Given the description of an element on the screen output the (x, y) to click on. 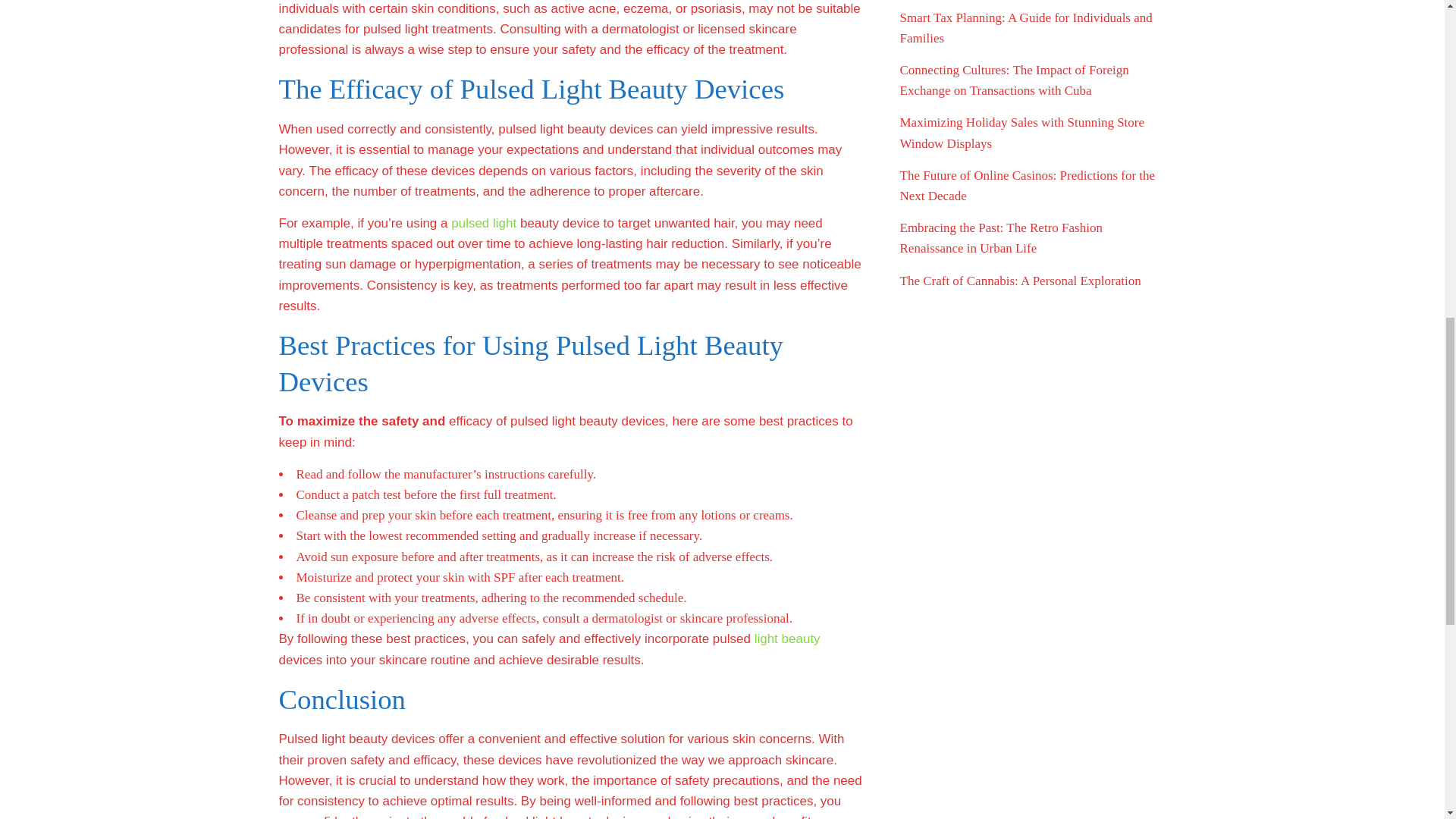
The Craft of Cannabis: A Personal Exploration (1019, 280)
Maximizing Holiday Sales with Stunning Store Window Displays (1021, 132)
light beauty (787, 638)
pulsed light (483, 223)
Smart Tax Planning: A Guide for Individuals and Families (1025, 27)
